Given the description of an element on the screen output the (x, y) to click on. 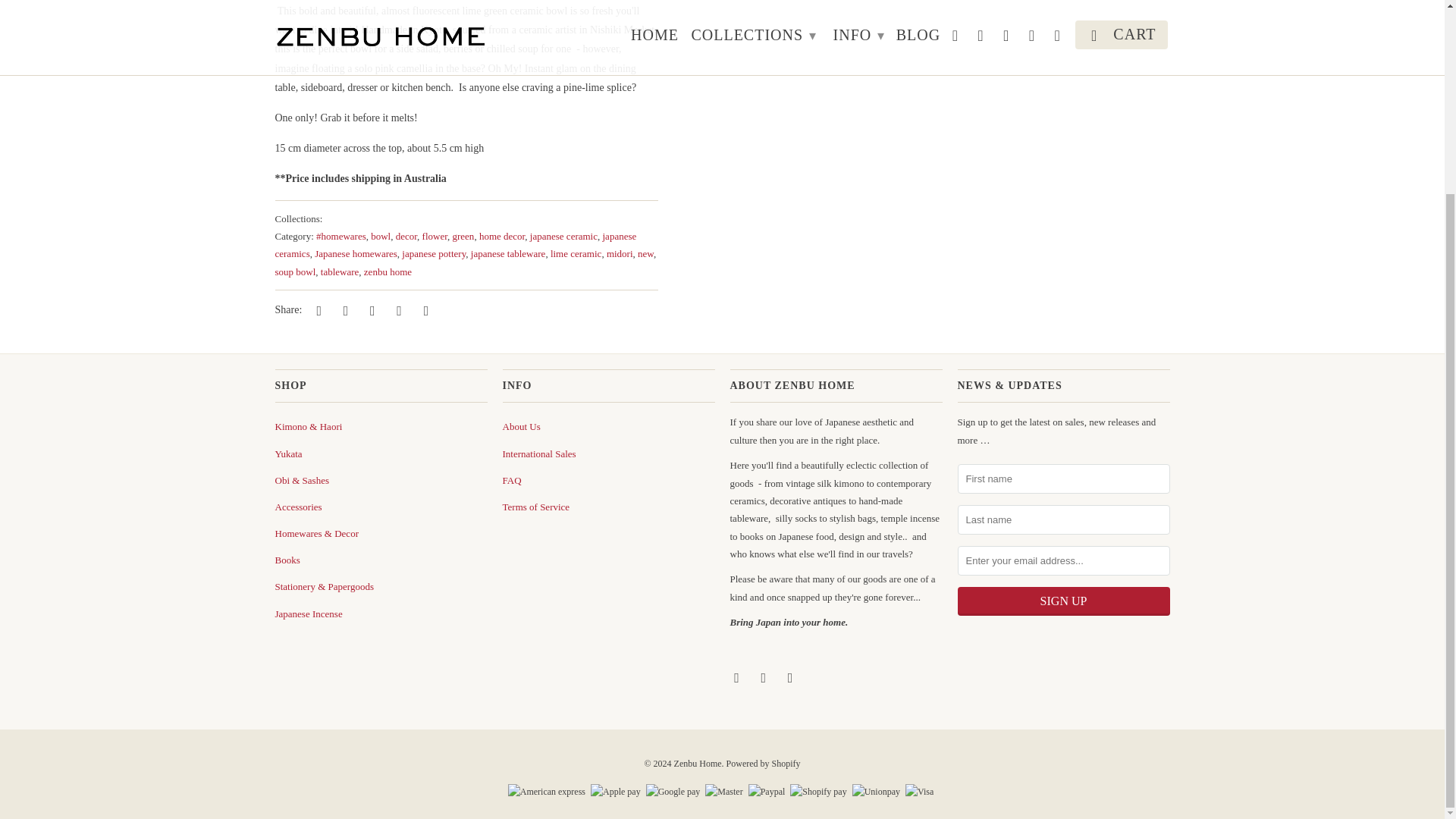
Products tagged Japanese homewares (355, 253)
Products tagged decor (406, 235)
Products tagged japanese tableware (508, 253)
Products tagged home decor (501, 235)
Products tagged japanese pottery (433, 253)
Products tagged flower (434, 235)
Sign Up (1062, 601)
Products tagged green (462, 235)
Products tagged bowl (380, 235)
Products tagged japanese ceramics (455, 244)
